Given the description of an element on the screen output the (x, y) to click on. 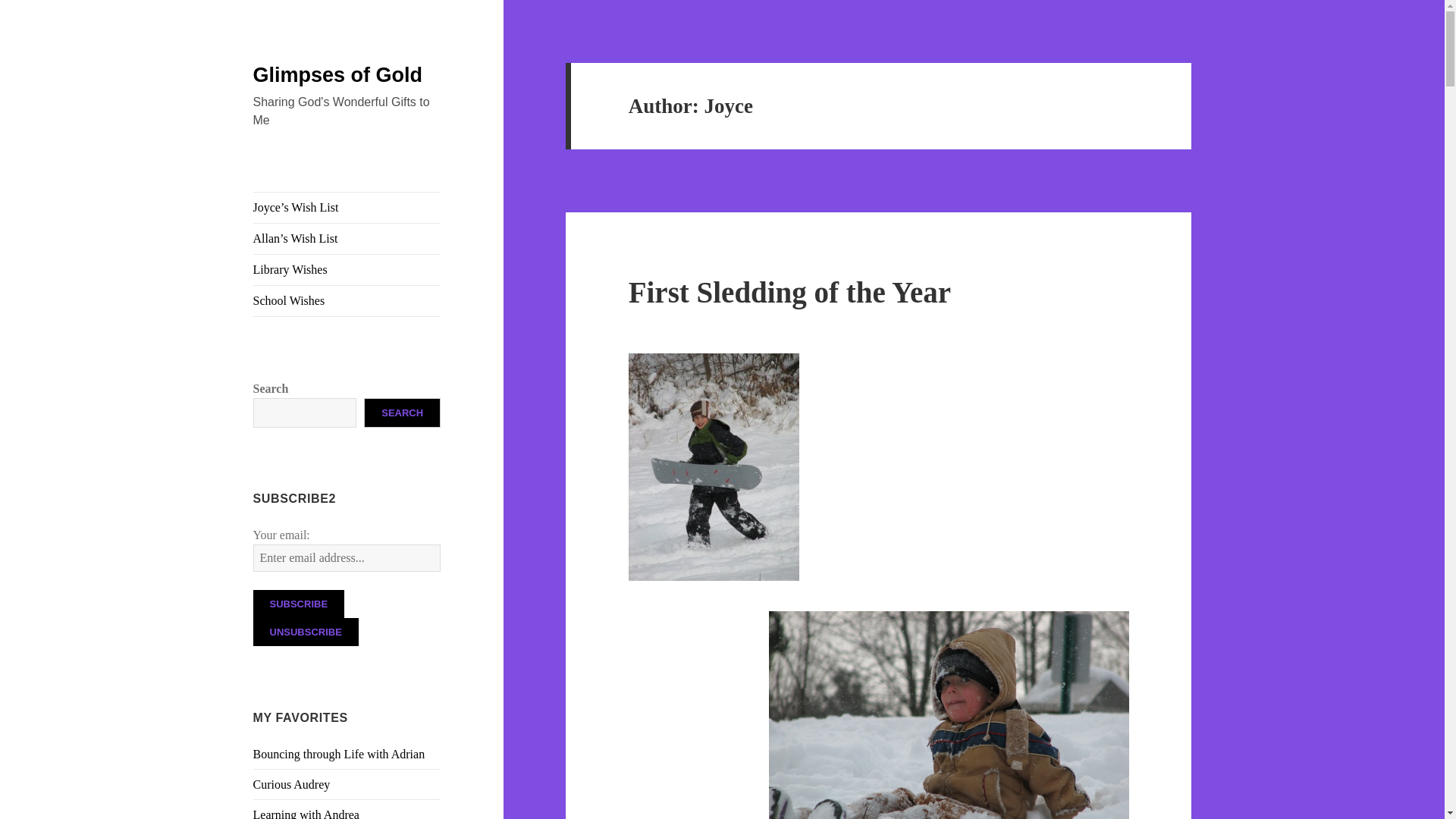
School Wishes (347, 300)
Unsubscribe (305, 632)
Unsubscribe (305, 632)
Bouncing through Life with Adrian (339, 753)
Library Wishes (347, 269)
Glimpses of Gold (338, 74)
Learning with Andrea (306, 813)
Enter email address... (347, 557)
First Sledding of the Year (789, 292)
SEARCH (402, 412)
